Given the description of an element on the screen output the (x, y) to click on. 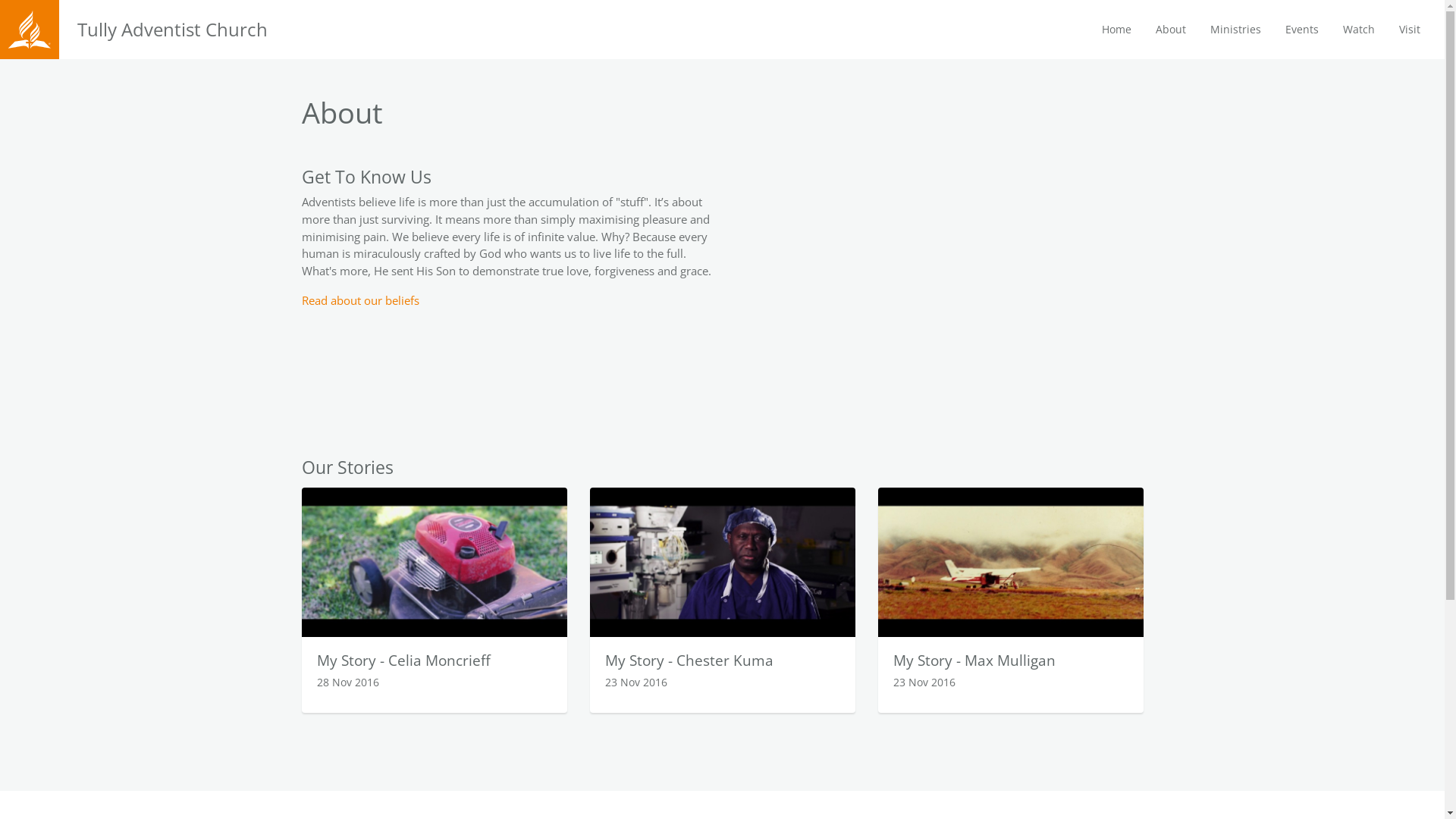
My Story - Celia Moncrieff
28 Nov 2016 Element type: text (434, 599)
About Element type: text (1170, 29)
Visit Element type: text (1409, 29)
My Story - Max Mulligan
23 Nov 2016 Element type: text (1010, 599)
Watch Element type: text (1358, 29)
Our Stories Element type: text (347, 467)
Ministries Element type: text (1235, 29)
Events Element type: text (1301, 29)
Home Element type: text (1116, 29)
Seventh-day Adventist Church Logo
Tully Adventist Church Element type: text (170, 29)
My Story - Chester Kuma
23 Nov 2016 Element type: text (722, 599)
Read about our beliefs Element type: text (360, 299)
